Given the description of an element on the screen output the (x, y) to click on. 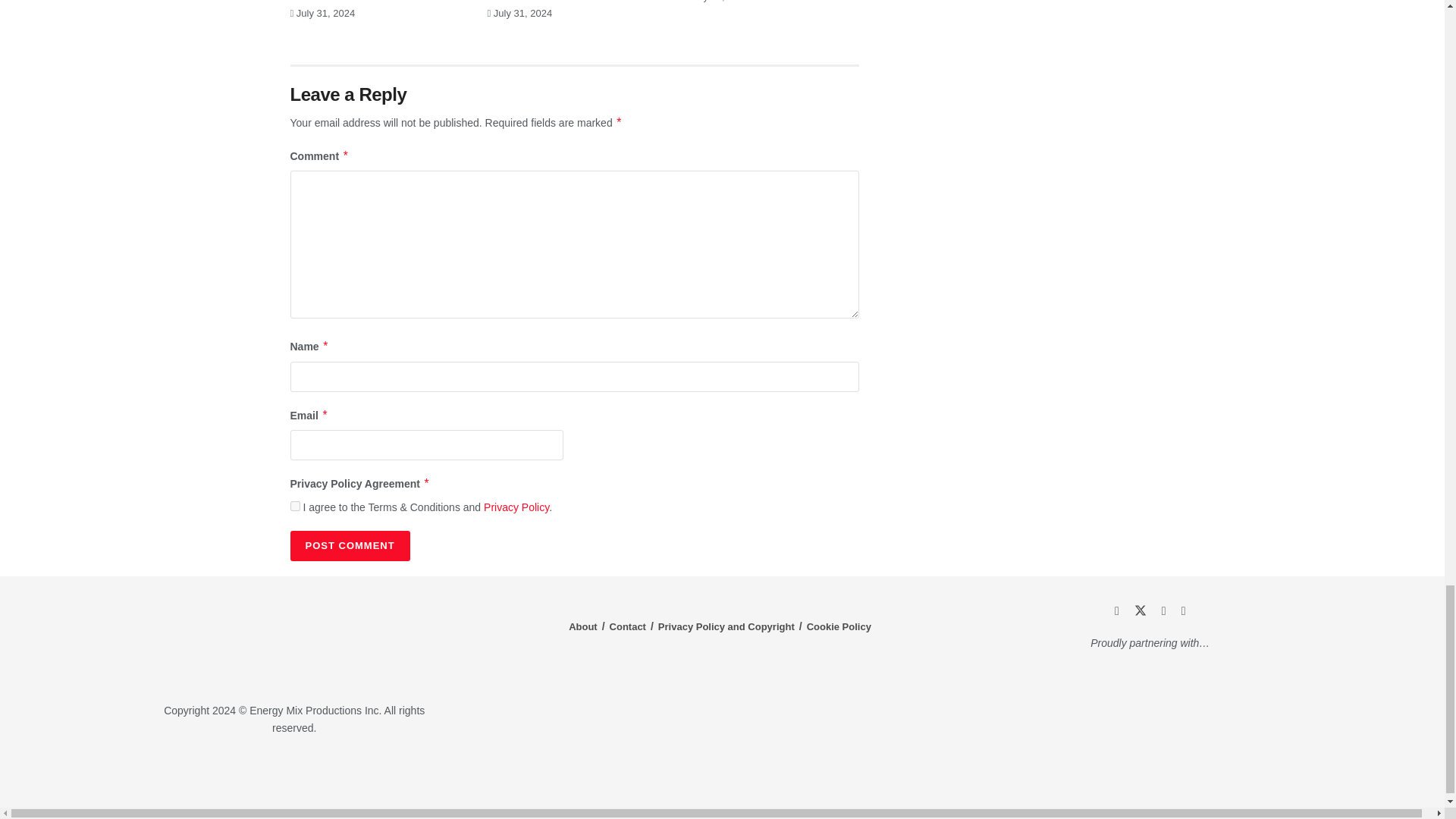
Climate-and-Capital (1221, 772)
on (294, 506)
tem-logo-2024 (294, 640)
Post Comment (349, 545)
